Given the description of an element on the screen output the (x, y) to click on. 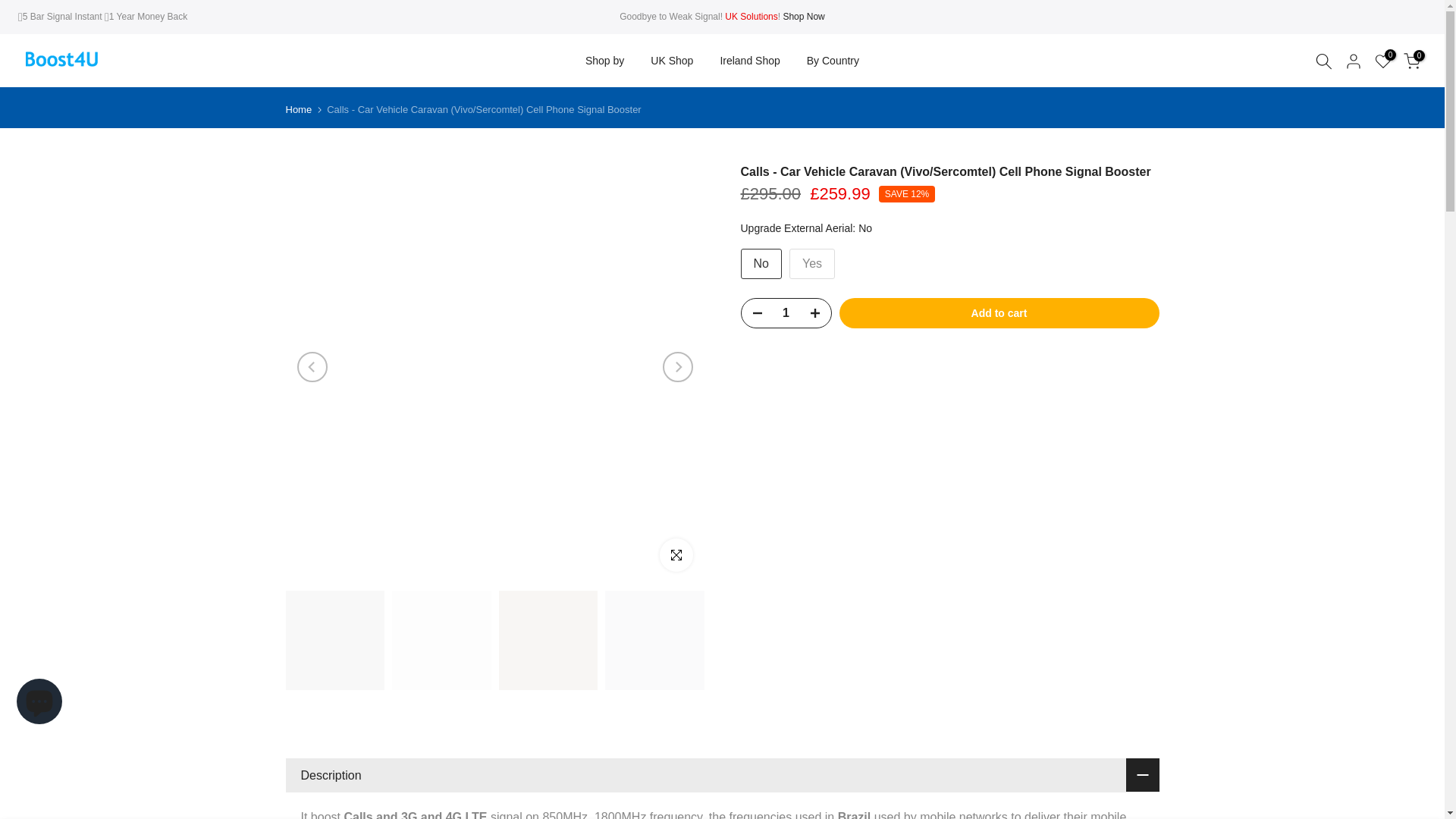
Shopify online store chat (38, 703)
United Kingdom (803, 16)
Ireland Shop (749, 60)
Shop Now (803, 16)
Skip to content (10, 7)
Shop by (604, 60)
1 (786, 312)
UK Shop (671, 60)
